Given the description of an element on the screen output the (x, y) to click on. 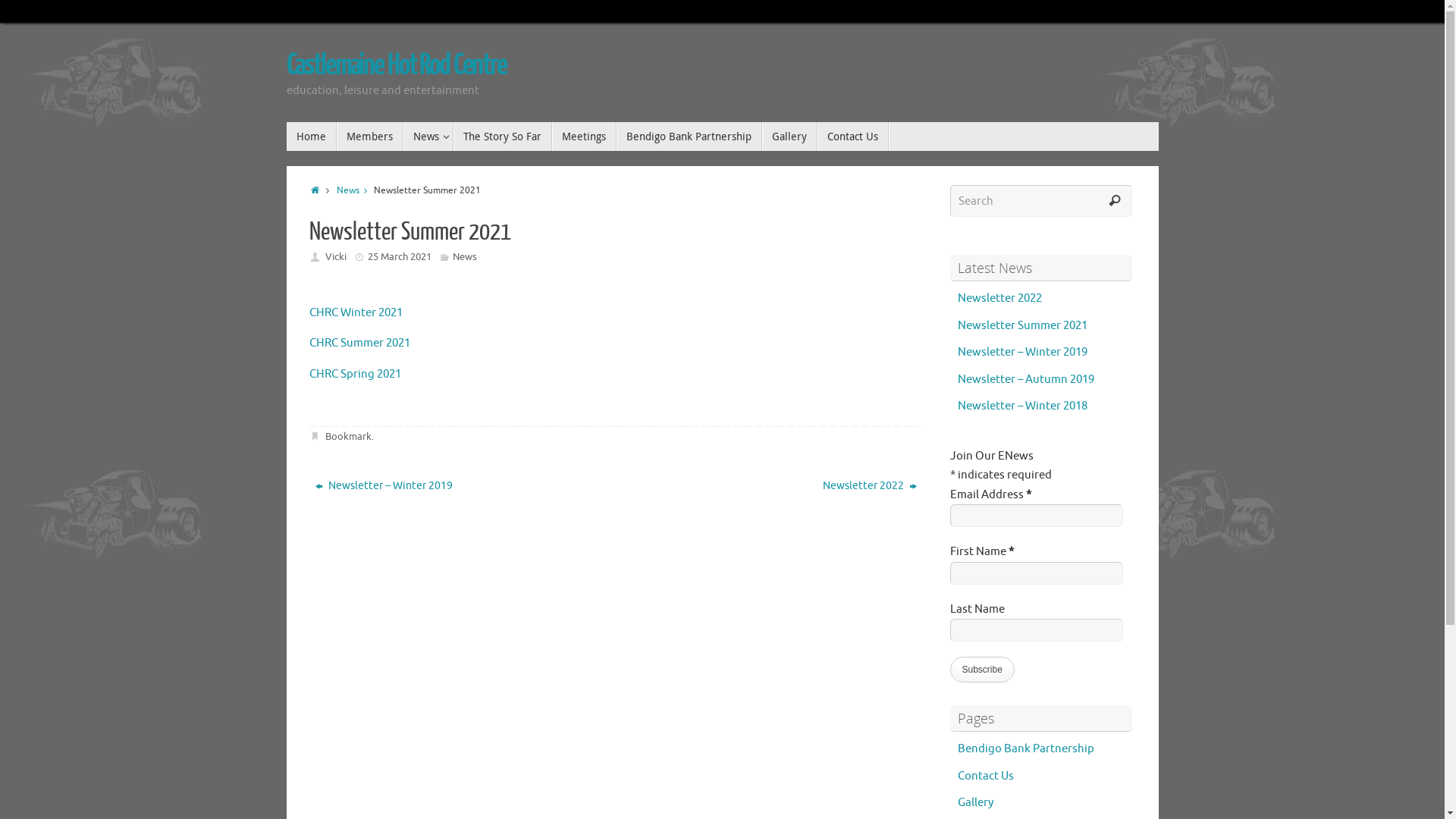
Vicki Element type: text (335, 256)
News Element type: text (355, 190)
Bendigo Bank Partnership Element type: text (1025, 748)
Meetings Element type: text (584, 136)
Castlemaine Hot Rod Centre Element type: text (396, 65)
25 March 2021 Element type: text (399, 256)
Subscribe Element type: text (981, 669)
Contact Us Element type: text (985, 775)
CHRC Spring 2021 Element type: text (355, 374)
Contact Us Element type: text (852, 136)
News Element type: text (428, 136)
Members Element type: text (369, 136)
The Story So Far Element type: text (502, 136)
Author  Element type: hover (316, 257)
Bendigo Bank Partnership Element type: text (688, 136)
Date Element type: hover (360, 257)
Newsletter Summer 2021 Element type: text (1021, 325)
CHRC Summer 2021 Element type: text (359, 342)
CHRC Winter 2021 Element type: text (355, 312)
Gallery Element type: text (974, 802)
 Bookmark the permalink Element type: hover (316, 436)
Categories Element type: hover (445, 257)
Bookmark Element type: text (348, 435)
Newsletter 2022 Element type: text (772, 486)
News Element type: text (464, 256)
Newsletter 2022 Element type: text (999, 298)
Gallery Element type: text (788, 136)
Home Element type: text (311, 136)
